Given the description of an element on the screen output the (x, y) to click on. 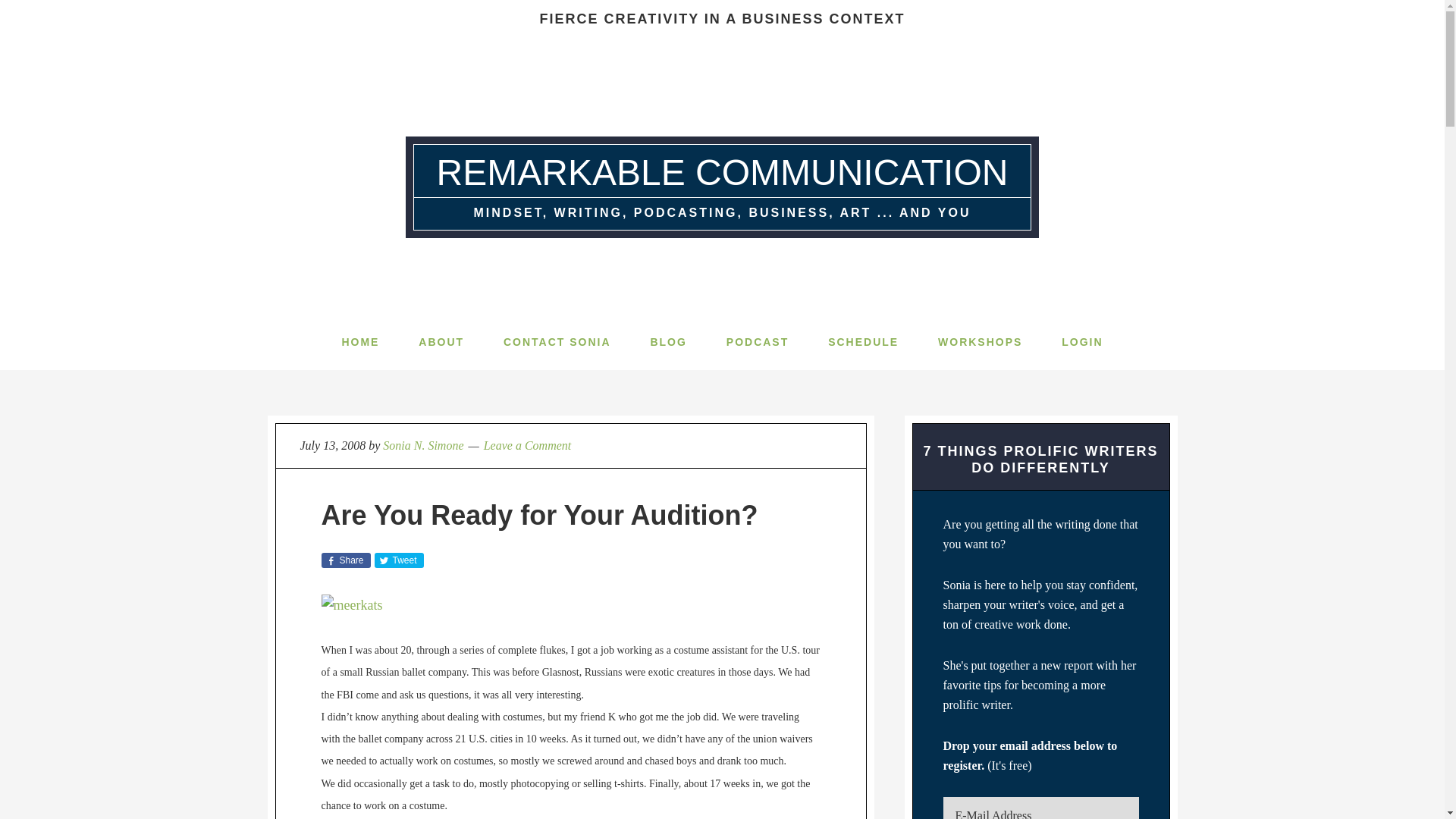
SCHEDULE (863, 341)
REMARKABLE COMMUNICATION (722, 172)
Share (346, 560)
WORKSHOPS (980, 341)
ready (357, 605)
ABOUT (440, 341)
PODCAST (756, 341)
LOGIN (1082, 341)
BLOG (667, 341)
